Given the description of an element on the screen output the (x, y) to click on. 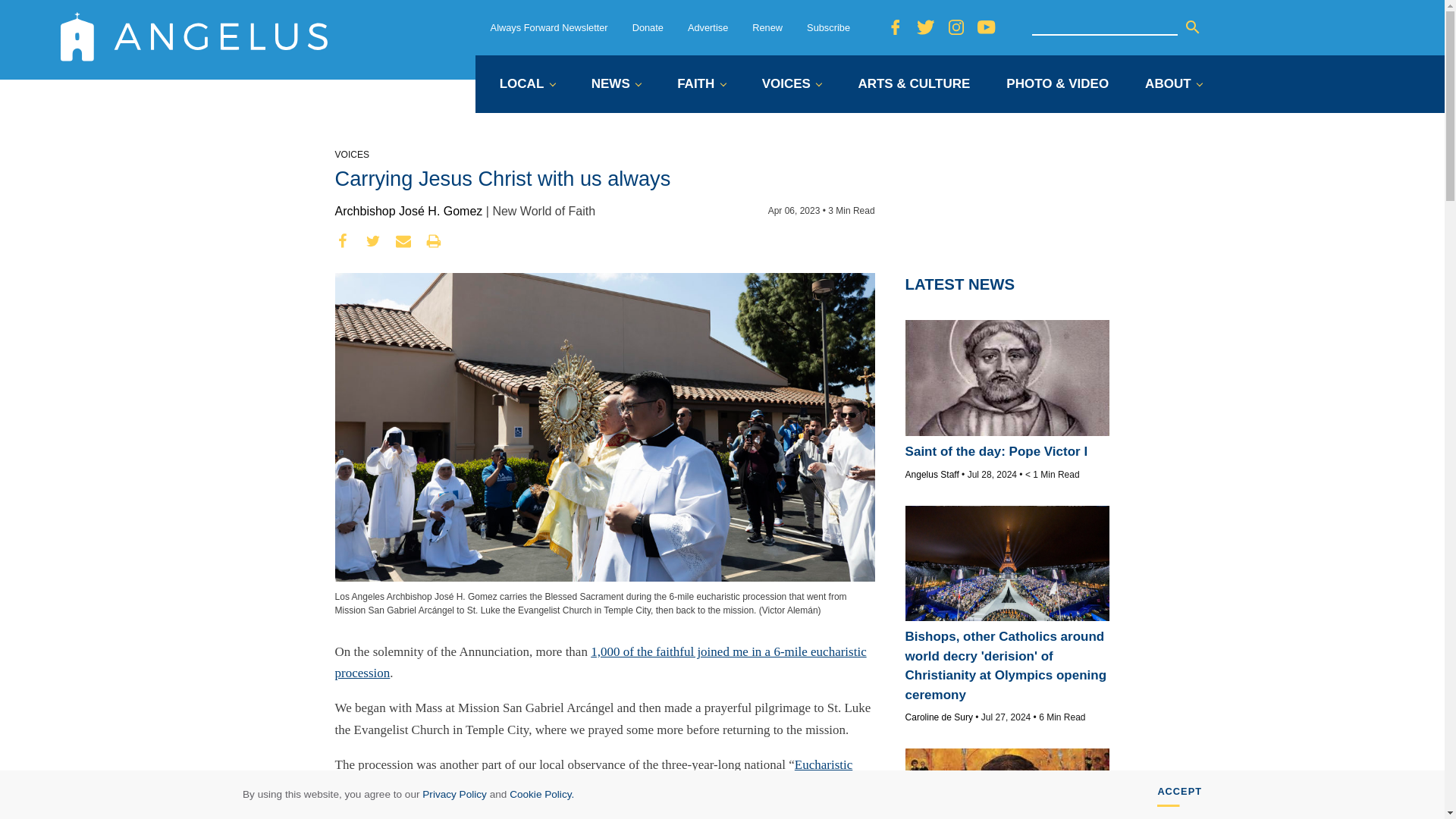
print (433, 240)
facebook (342, 240)
Posts by Caroline de Sury (938, 716)
FAITH (701, 84)
Subscribe (828, 27)
Advertise (707, 27)
Privacy Policy (454, 794)
NEWS (615, 84)
Donate (647, 27)
Always Forward Newsletter (549, 27)
Cookie Policy. (541, 794)
Posts by Angelus Staff (932, 474)
Renew (767, 27)
LOCAL (526, 84)
ACCEPT (1179, 794)
